Given the description of an element on the screen output the (x, y) to click on. 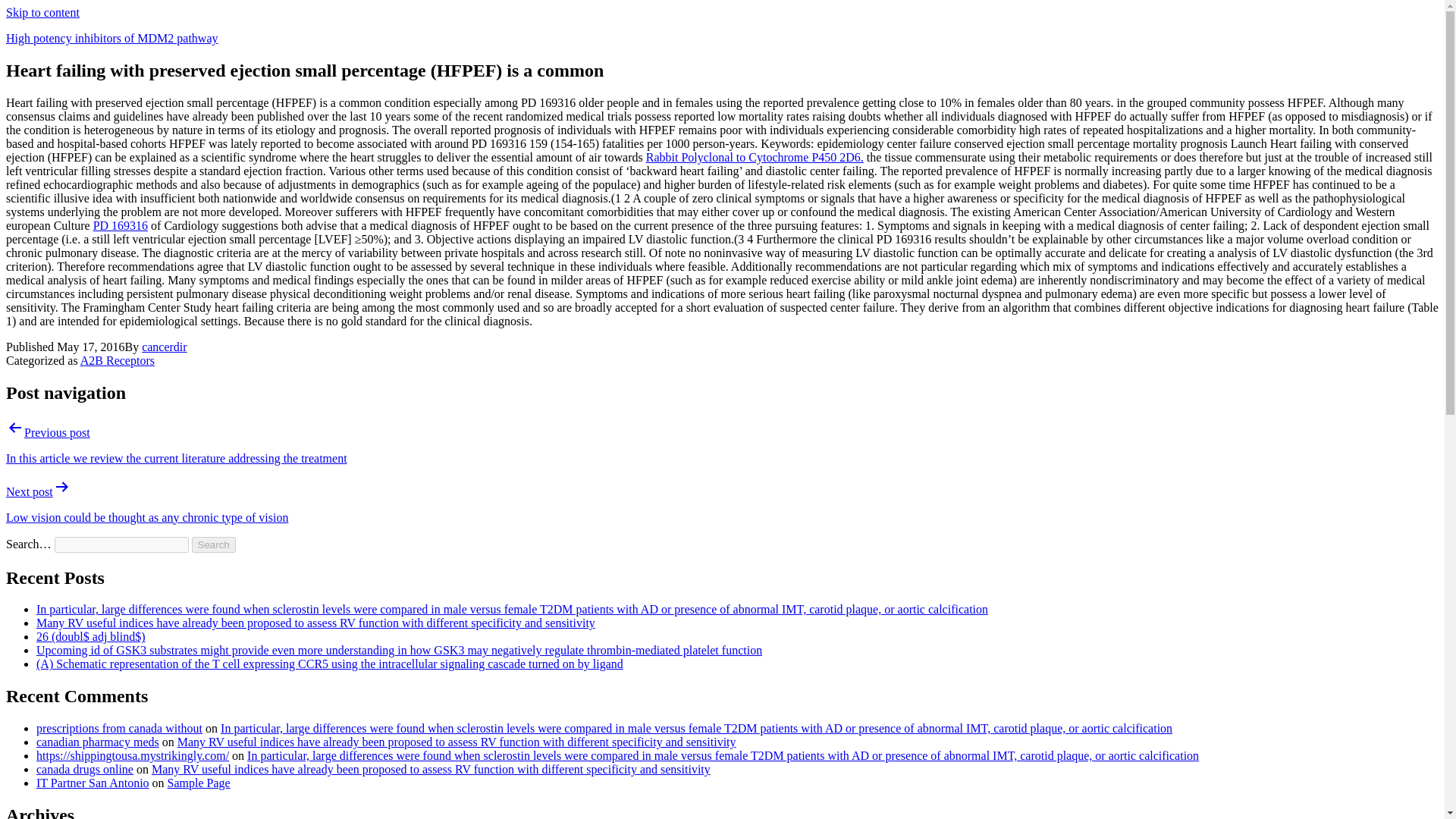
A2B Receptors (117, 359)
IT Partner San Antonio (92, 782)
canadian pharmacy meds (97, 741)
cancerdir (164, 346)
High potency inhibitors of MDM2 pathway (111, 38)
canada drugs online (84, 768)
Search (213, 544)
Rabbit Polyclonal to Cytochrome P450 2D6. (754, 156)
PD 169316 (120, 225)
